Given the description of an element on the screen output the (x, y) to click on. 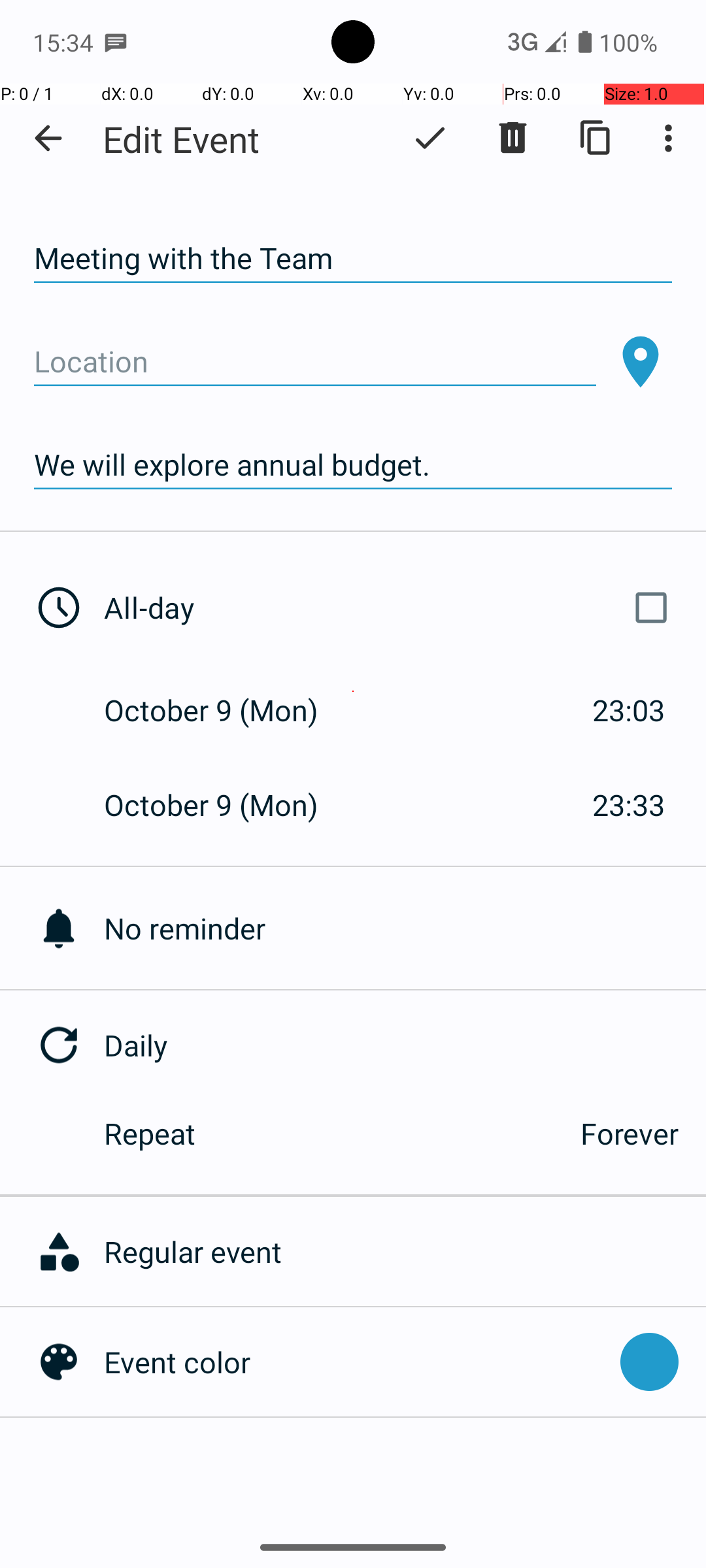
Meeting with the Team Element type: android.widget.EditText (352, 258)
We will explore annual budget. Element type: android.widget.EditText (352, 465)
October 9 (Mon) Element type: android.widget.TextView (224, 709)
23:03 Element type: android.widget.TextView (628, 709)
23:33 Element type: android.widget.TextView (628, 804)
Daily Element type: android.widget.TextView (404, 1044)
Repeat Element type: android.widget.TextView (328, 1132)
Forever Element type: android.widget.TextView (629, 1132)
